Given the description of an element on the screen output the (x, y) to click on. 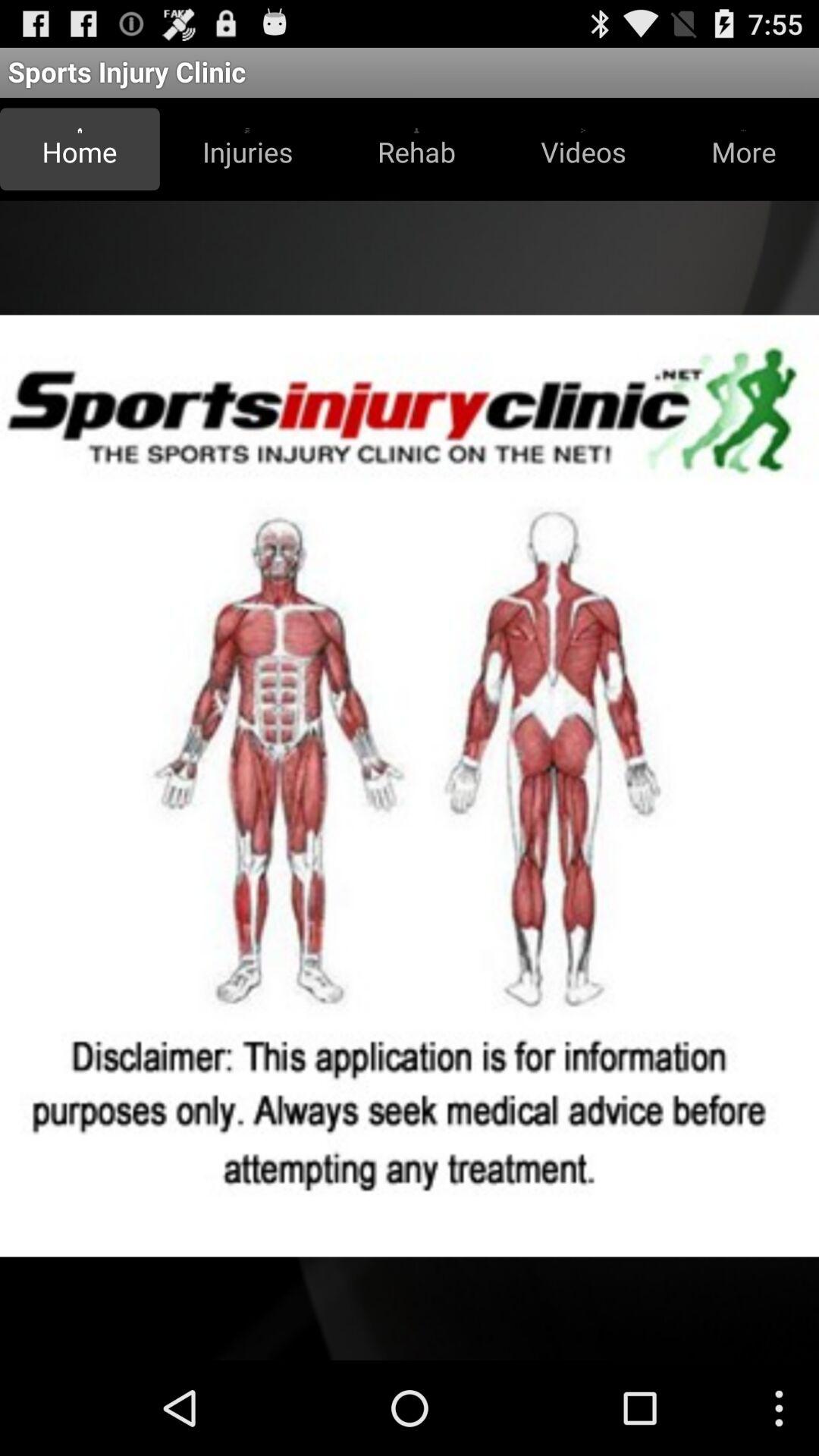
turn on home button (79, 149)
